Given the description of an element on the screen output the (x, y) to click on. 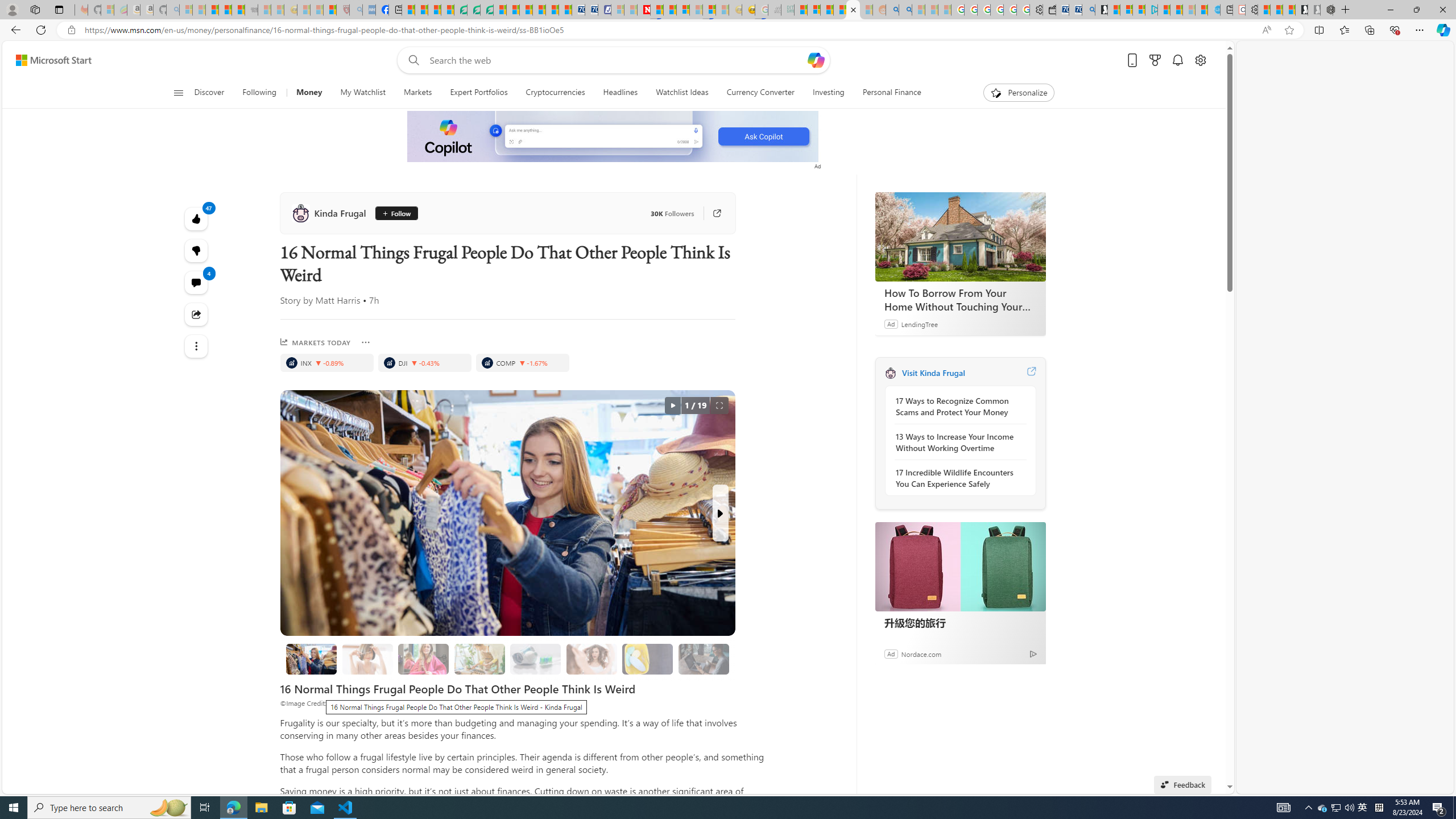
Watchlist Ideas (682, 92)
Feedback (1182, 784)
5. Not Washing Hair (591, 658)
How To Borrow From Your Home Without Touching Your Mortgage (959, 299)
Skip to content (49, 59)
Ad (890, 653)
Class: at-item (196, 345)
To get missing image descriptions, open the context menu. (613, 136)
DITOGAMES AG Imprint - Sleeping (787, 9)
Watchlist Ideas (681, 92)
